Given the description of an element on the screen output the (x, y) to click on. 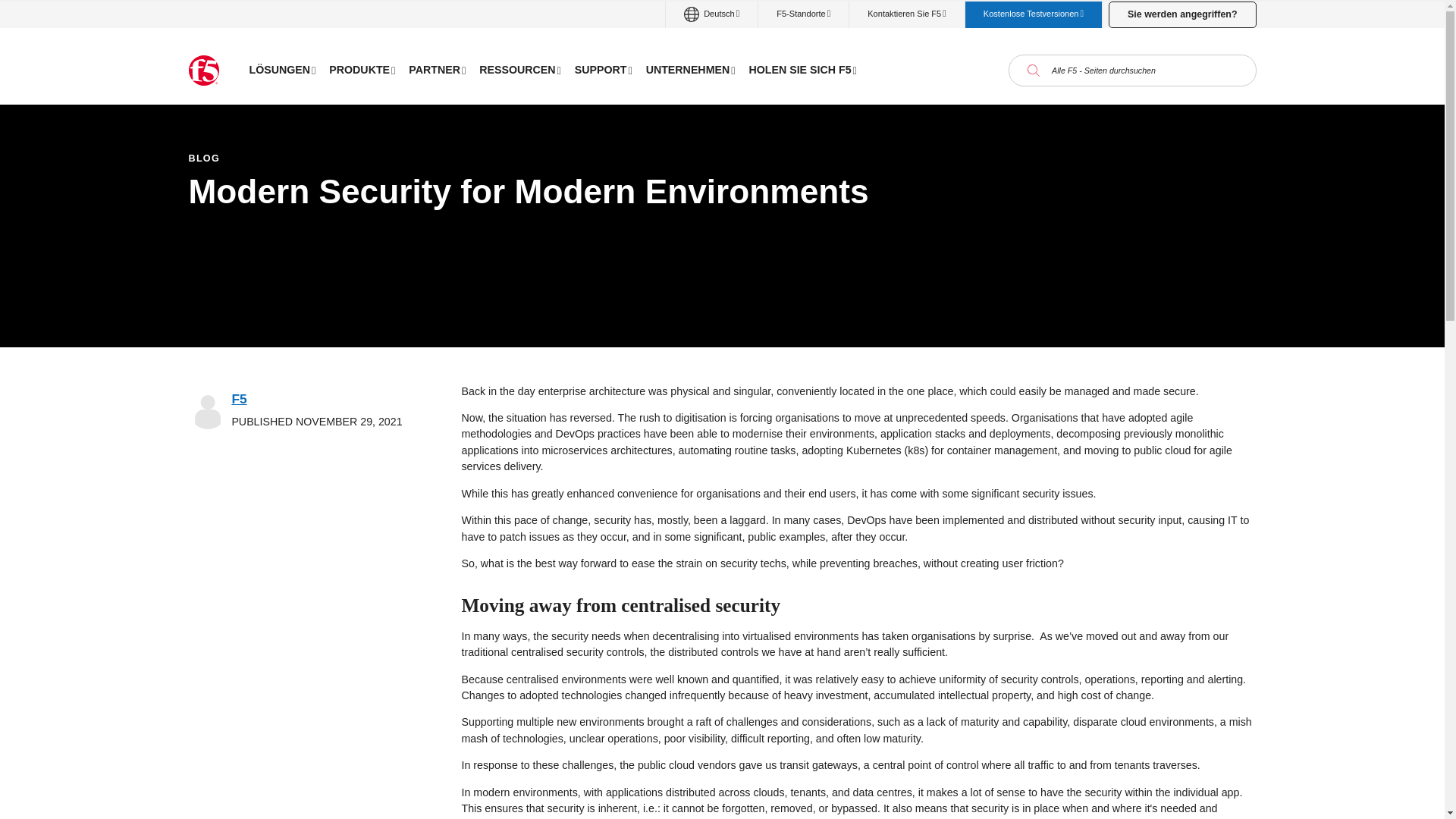
F5 (238, 398)
UNTERNEHMEN (690, 69)
HOLEN SIE SICH F5 (802, 69)
RESSOURCEN (519, 69)
Deutsch (711, 13)
Kontaktieren Sie F5 (905, 13)
F5 (202, 70)
F5-Standorte (803, 13)
PARTNER (436, 69)
PRODUKTE (361, 69)
Sie werden angegriffen? (1181, 14)
SUPPORT (603, 69)
Kostenlose Testversionen (1033, 13)
